Given the description of an element on the screen output the (x, y) to click on. 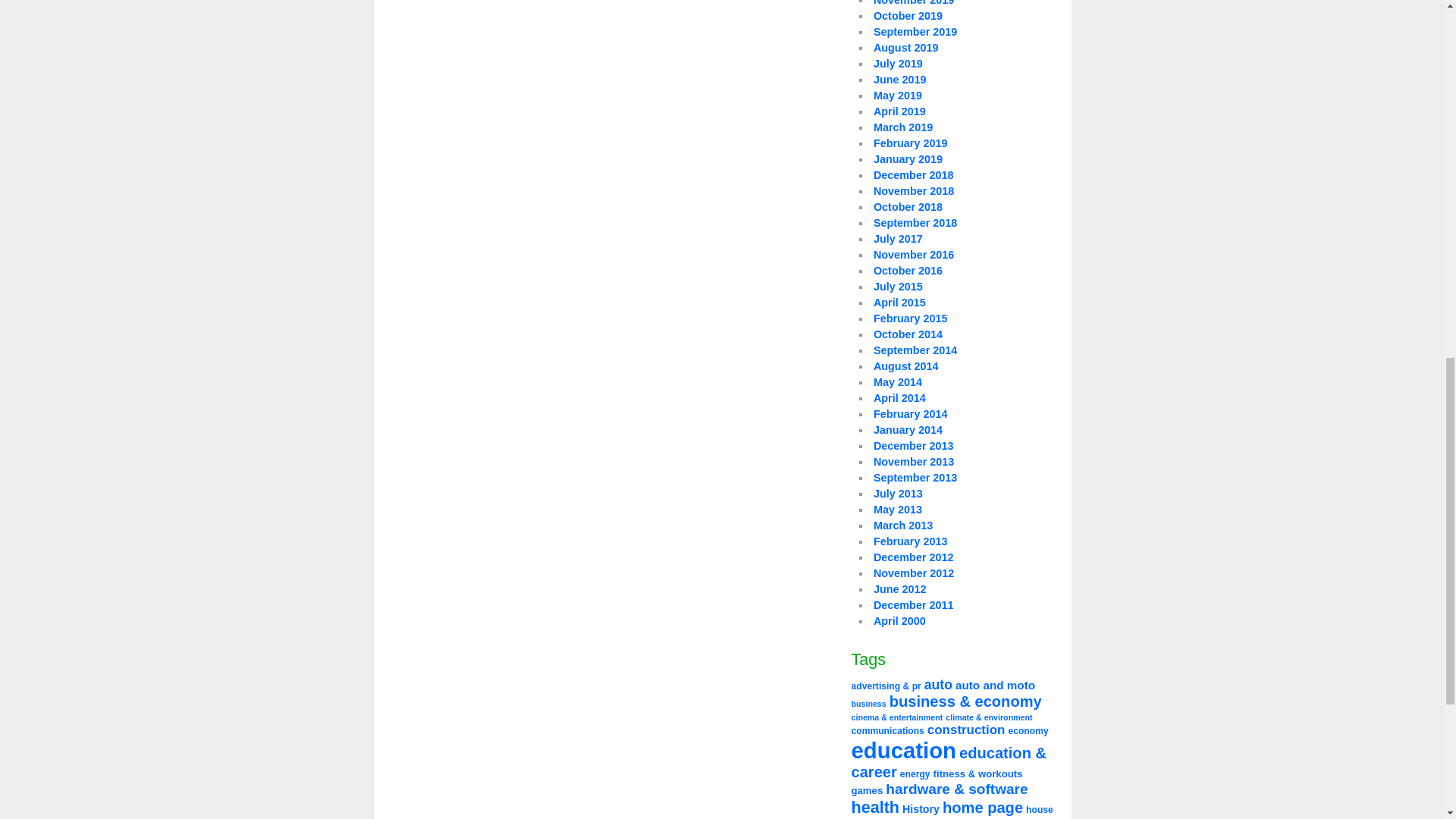
May 2019 (897, 95)
August 2019 (906, 47)
November 2019 (913, 2)
October 2019 (907, 15)
April 2019 (899, 111)
June 2019 (899, 79)
September 2019 (914, 31)
February 2019 (910, 143)
January 2019 (907, 159)
March 2019 (903, 127)
